Given the description of an element on the screen output the (x, y) to click on. 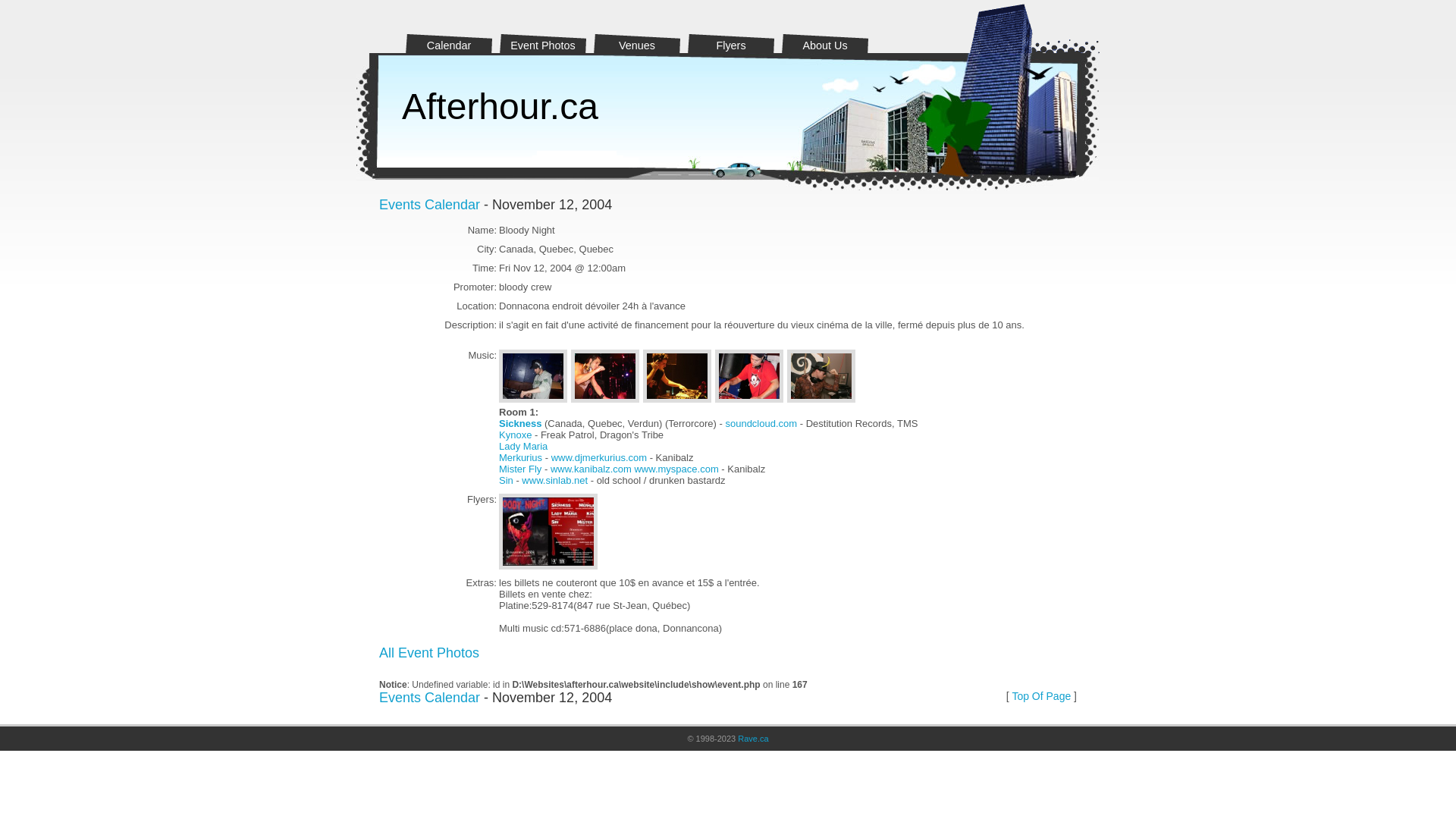
Venues Element type: text (636, 42)
Merkurius Element type: text (520, 457)
Afterhour.ca Element type: text (499, 106)
Events Calendar Element type: text (429, 204)
Top Of Page Element type: text (1040, 696)
soundcloud.com Element type: text (760, 423)
www.djmerkurius.com Element type: text (598, 457)
About Us Element type: text (824, 42)
Rave.ca Element type: text (752, 738)
All Event Photos Element type: text (429, 652)
Sin Element type: text (505, 480)
Lady Maria Element type: text (522, 445)
Event Photos Element type: text (542, 42)
Events Calendar Element type: text (429, 697)
Mister Fly Element type: text (519, 468)
Calendar Element type: text (448, 42)
www.sinlab.net Element type: text (554, 480)
www.kanibalz.com Element type: text (590, 468)
www.myspace.com Element type: text (675, 468)
Flyers Element type: text (730, 42)
Kynoxe Element type: text (514, 434)
Sickness Element type: text (519, 423)
